Given the description of an element on the screen output the (x, y) to click on. 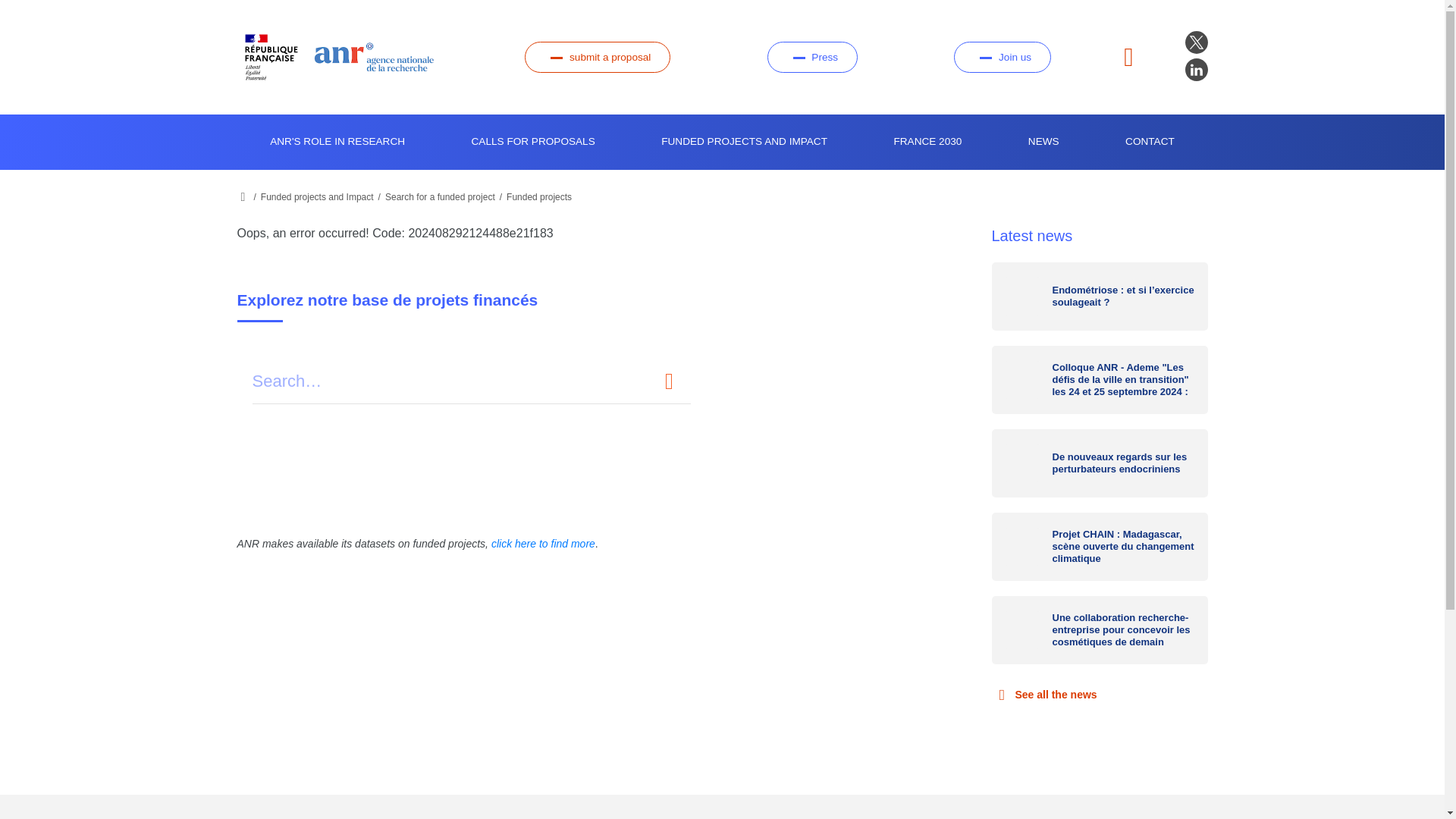
De nouveaux regards sur les perturbateurs endocriniens (1099, 463)
ANR'S ROLE IN RESEARCH (336, 141)
Join us (1001, 56)
Press (812, 56)
submit a proposal (596, 56)
